Given the description of an element on the screen output the (x, y) to click on. 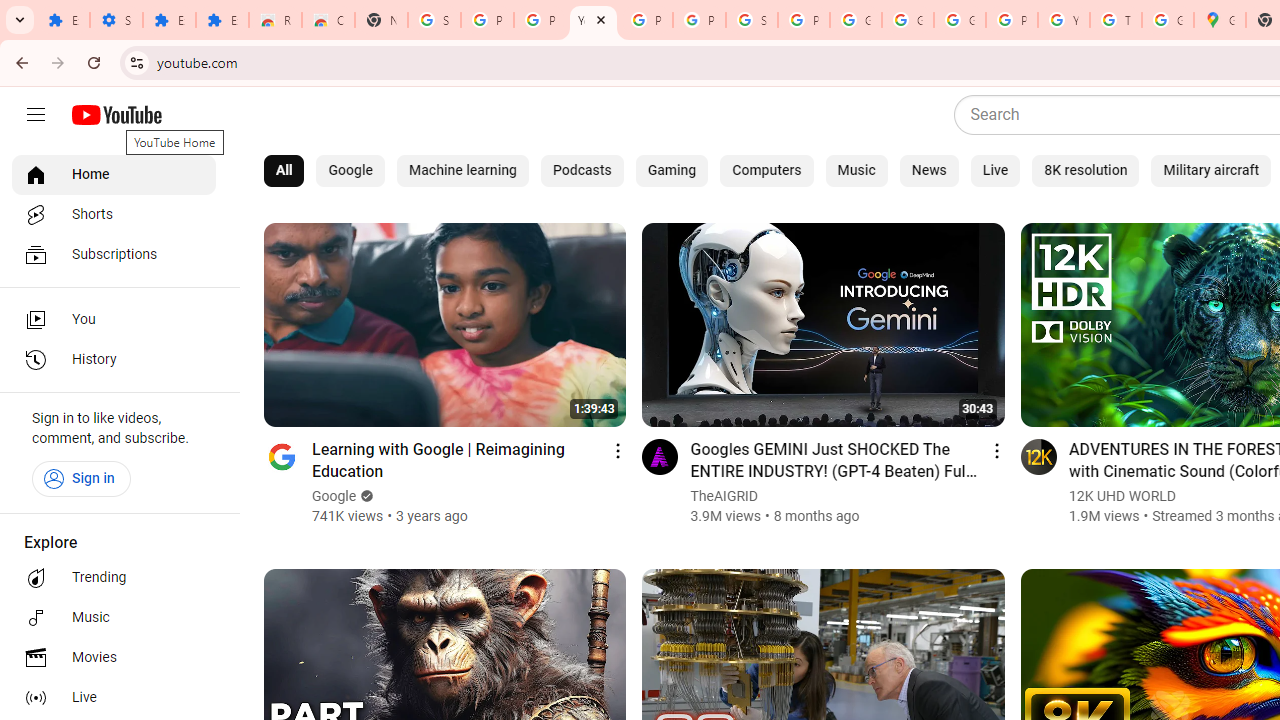
Military aircraft (1211, 170)
Sign in - Google Accounts (751, 20)
YouTube Home (116, 115)
YouTube (1064, 20)
Gaming (671, 170)
Machine learning (461, 170)
Shorts (113, 214)
Trending (113, 578)
Verified (365, 495)
